Given the description of an element on the screen output the (x, y) to click on. 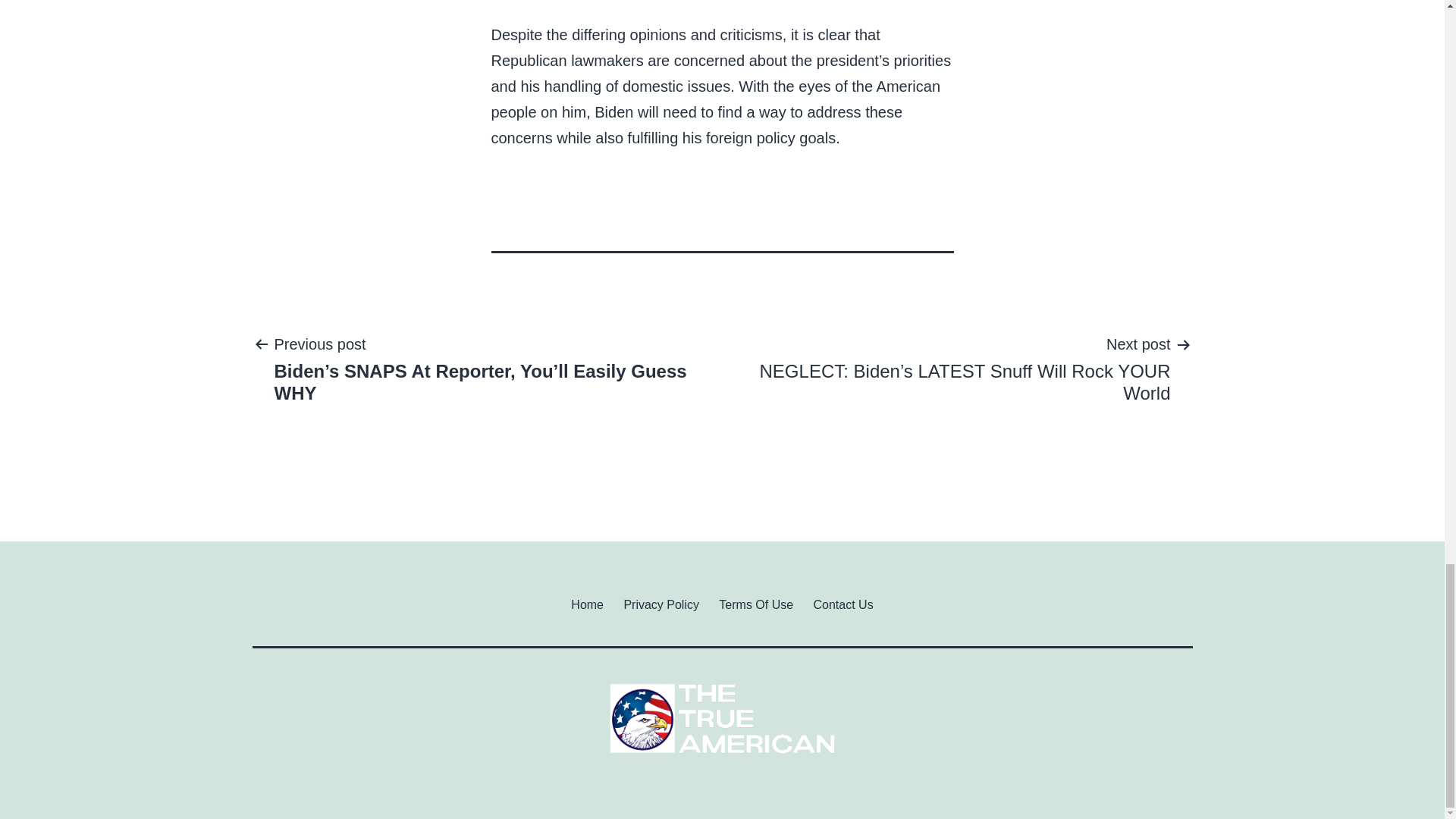
Contact Us (843, 604)
Privacy Policy (660, 604)
Home (586, 604)
Terms Of Use (756, 604)
